Given the description of an element on the screen output the (x, y) to click on. 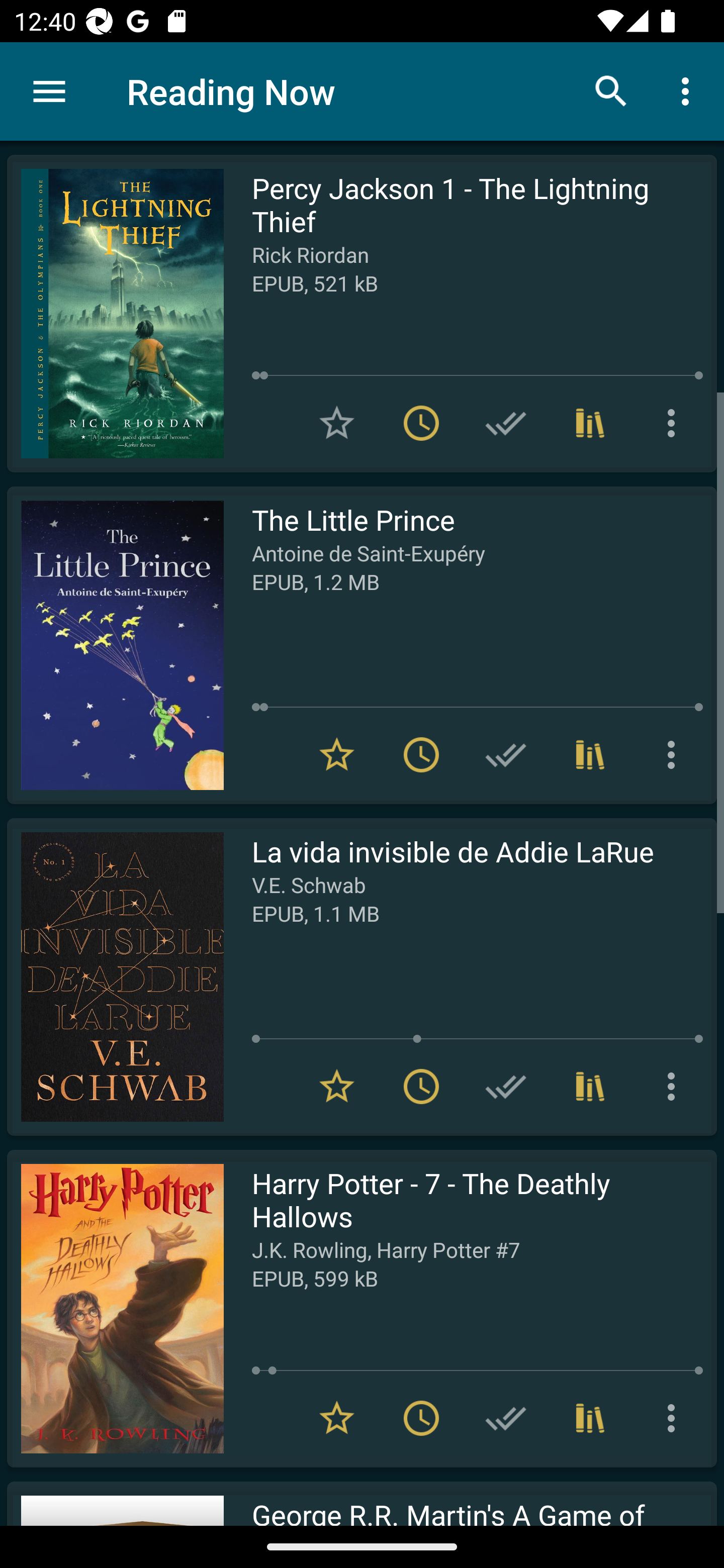
Menu (49, 91)
Search books & documents (611, 90)
More options (688, 90)
Read Percy Jackson 1 - The Lightning Thief (115, 313)
Add to Favorites (336, 423)
Remove from To read (421, 423)
Add to Have read (505, 423)
Collections (1) (590, 423)
More options (674, 423)
Read The Little Prince (115, 645)
Remove from Favorites (336, 753)
Remove from To read (421, 753)
Add to Have read (505, 753)
Collections (1) (590, 753)
More options (674, 753)
Read La vida invisible de Addie LaRue (115, 976)
Remove from Favorites (336, 1086)
Remove from To read (421, 1086)
Add to Have read (505, 1086)
Collections (1) (590, 1086)
More options (674, 1086)
Read Harry Potter - 7 - The Deathly Hallows (115, 1308)
Remove from Favorites (336, 1417)
Remove from To read (421, 1417)
Add to Have read (505, 1417)
Collections (3) (590, 1417)
More options (674, 1417)
